Given the description of an element on the screen output the (x, y) to click on. 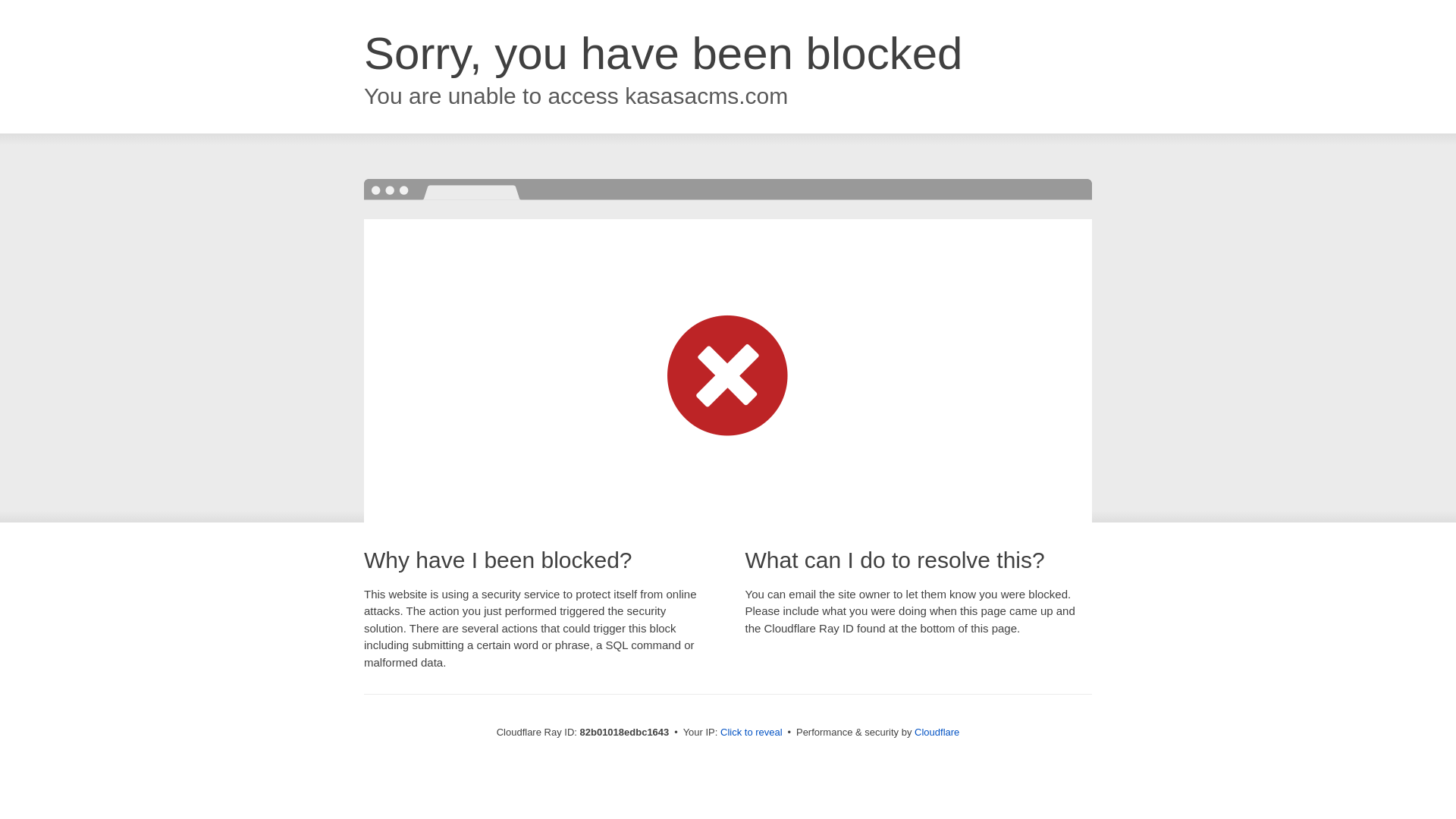
Click to reveal Element type: text (751, 732)
Cloudflare Element type: text (936, 731)
